Given the description of an element on the screen output the (x, y) to click on. 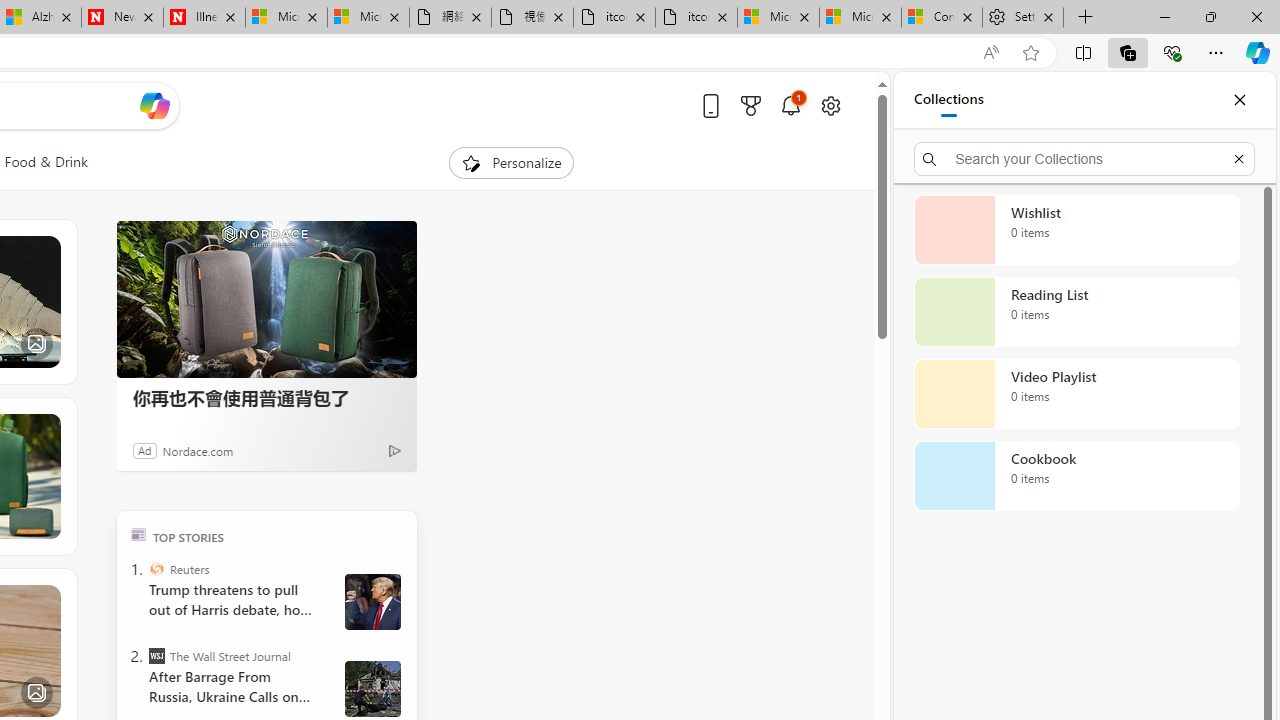
Newsweek - News, Analysis, Politics, Business, Technology (121, 17)
Nordace.com (198, 450)
Wishlist collection, 0 items (1076, 229)
